Given the description of an element on the screen output the (x, y) to click on. 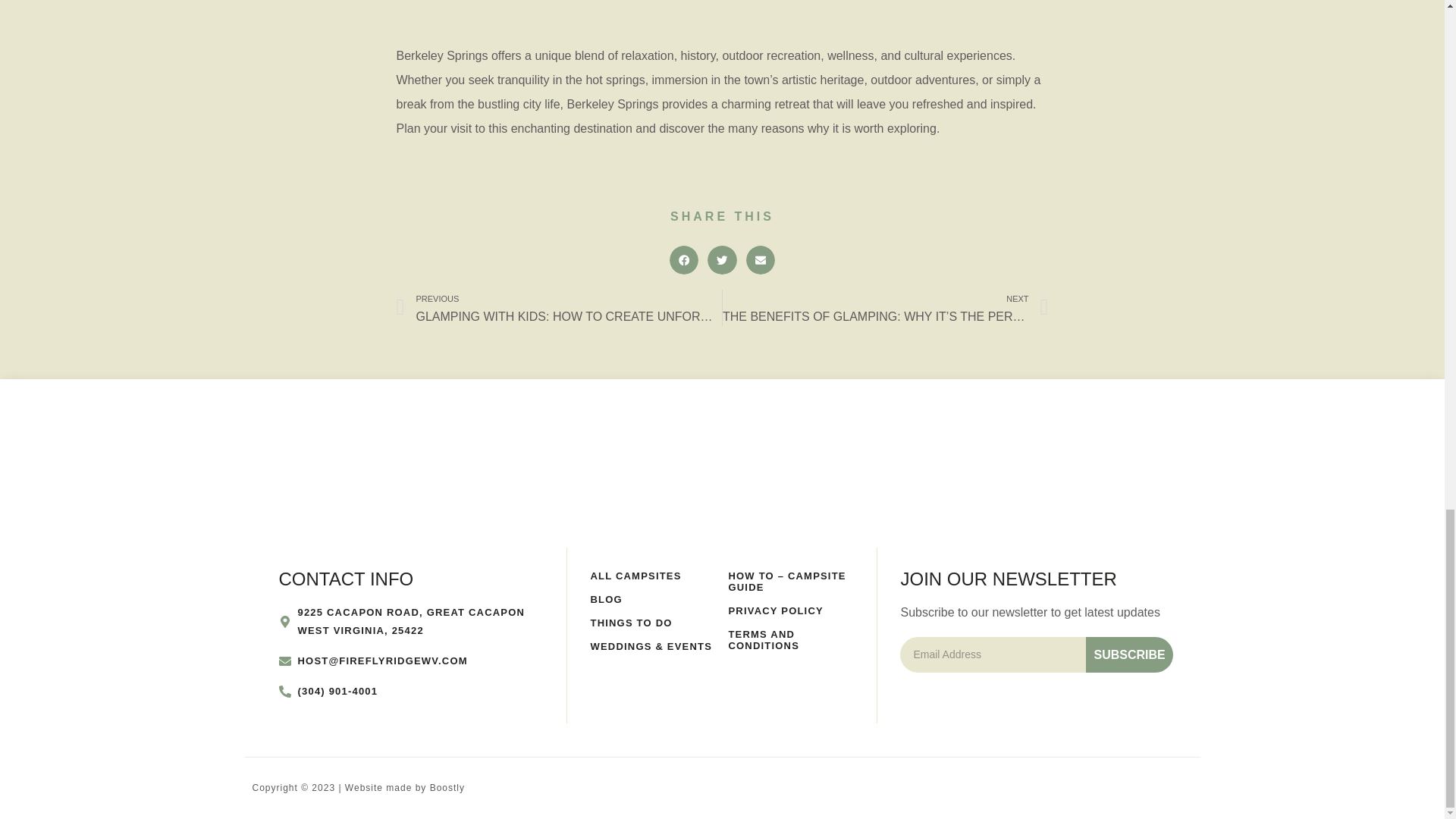
9225 CACAPON ROAD, GREAT CACAPON WEST VIRGINIA, 25422 (411, 621)
ALL CAMPSITES (652, 575)
